Given the description of an element on the screen output the (x, y) to click on. 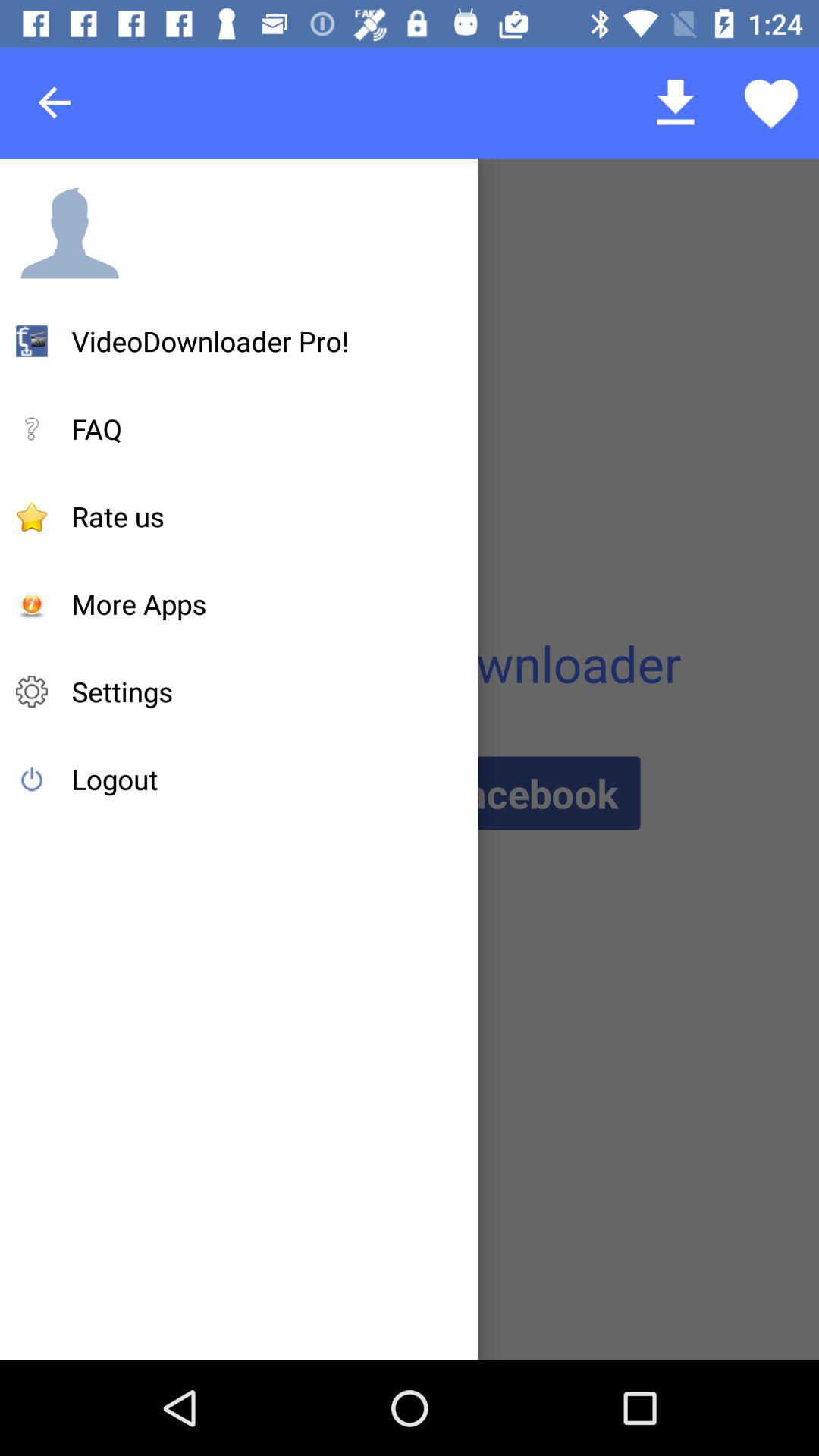
turn on settings (121, 691)
